Given the description of an element on the screen output the (x, y) to click on. 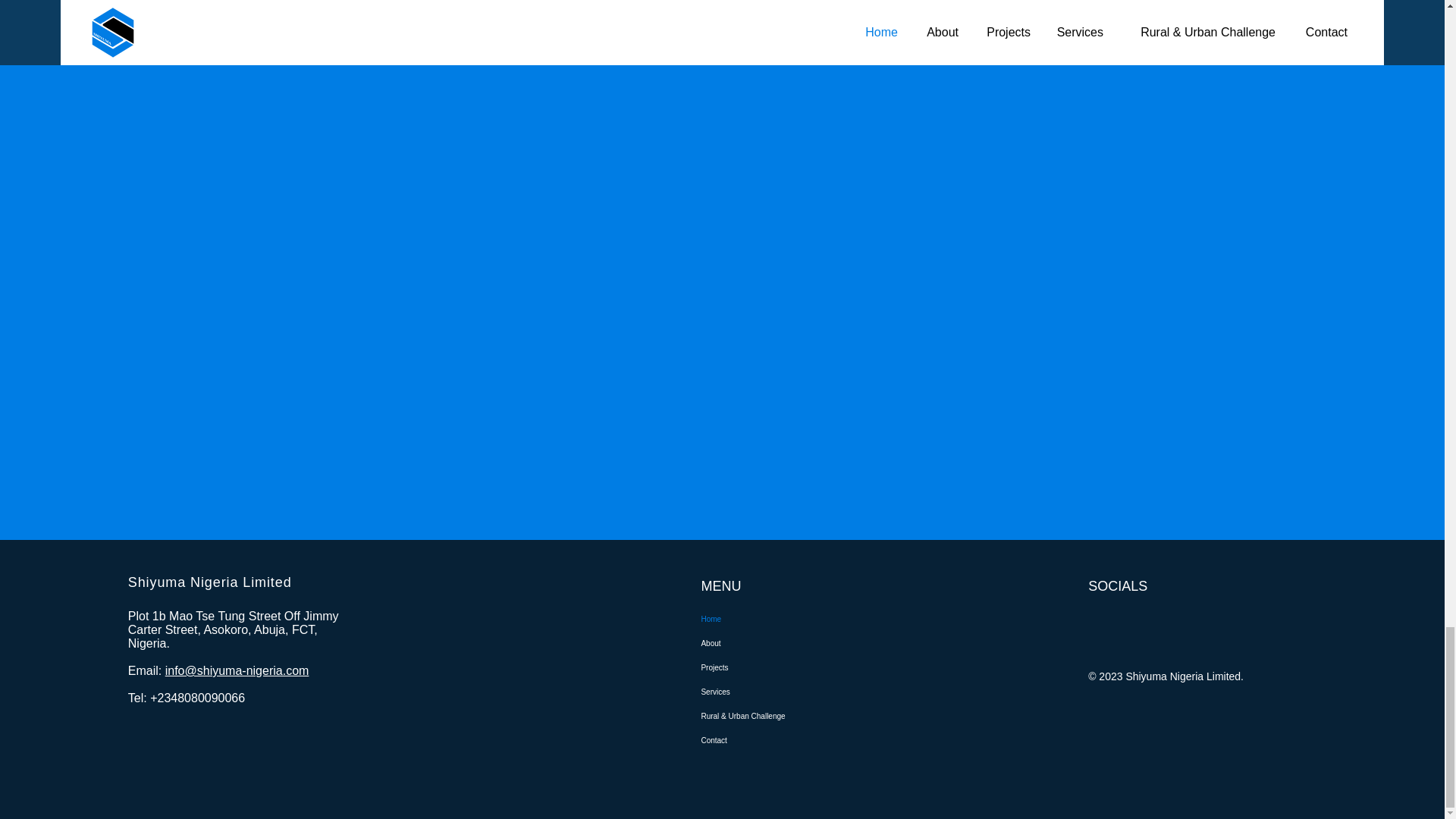
Projects (775, 668)
About (775, 643)
Contact (775, 740)
Services (775, 692)
Submit (999, 39)
Home (775, 619)
Shiyuma Nigeria Limited (210, 581)
